Given the description of an element on the screen output the (x, y) to click on. 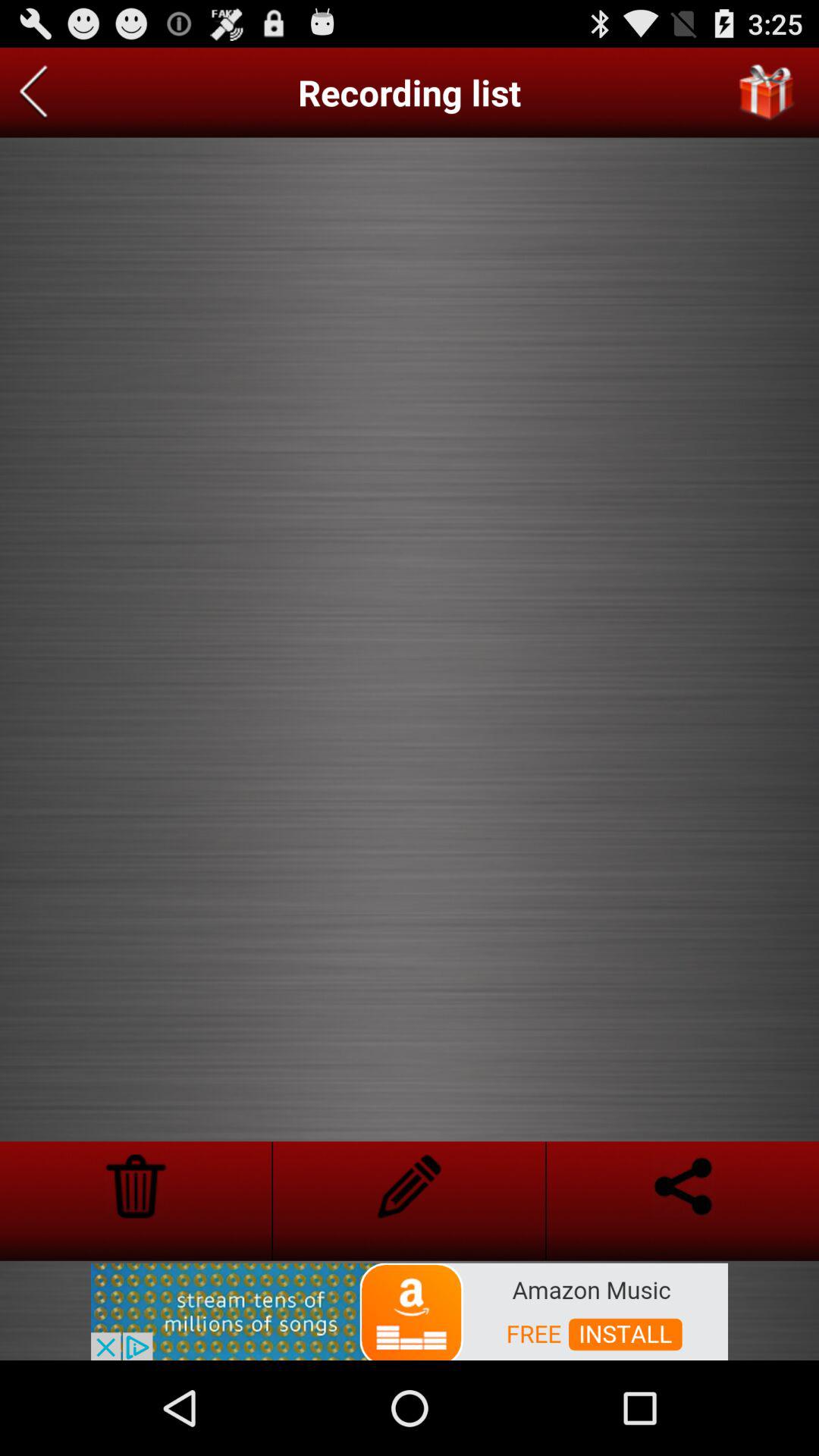
edit (409, 1186)
